Given the description of an element on the screen output the (x, y) to click on. 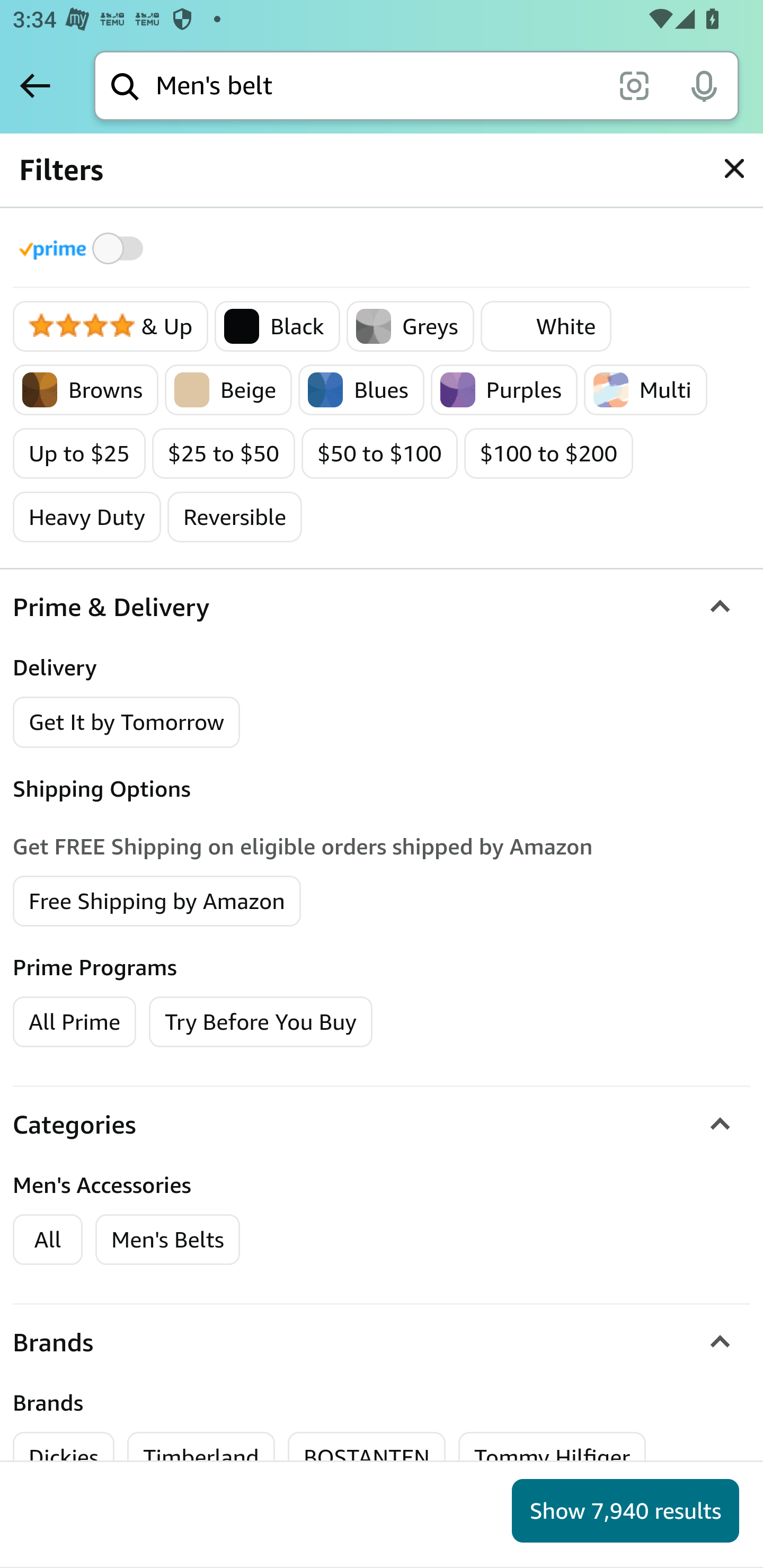
Back (35, 85)
scan it (633, 85)
Toggle to filter by Prime products Prime Eligible (83, 247)
4 Stars & Up (110, 326)
Black Black Black Black (277, 326)
Greys Greys Greys Greys (409, 326)
White White White White (545, 326)
Browns Browns Browns Browns (85, 390)
Beige Beige Beige Beige (228, 390)
Blues Blues Blues Blues (360, 390)
Purples Purples Purples Purples (503, 390)
Multi Multi Multi Multi (645, 390)
Up to $25 (79, 453)
$25 to $50 (223, 453)
$50 to $100 (378, 453)
$100 to $200 (548, 453)
Heavy Duty (86, 517)
Reversible (235, 517)
Prime & Delivery (381, 607)
Get It by Tomorrow (126, 721)
Free Shipping by Amazon (157, 899)
All Prime (74, 1020)
Try Before You Buy (260, 1020)
Categories (381, 1124)
All (47, 1239)
Men's Belts (167, 1239)
Brands (381, 1343)
Show 7,940 results (625, 1510)
